Given the description of an element on the screen output the (x, y) to click on. 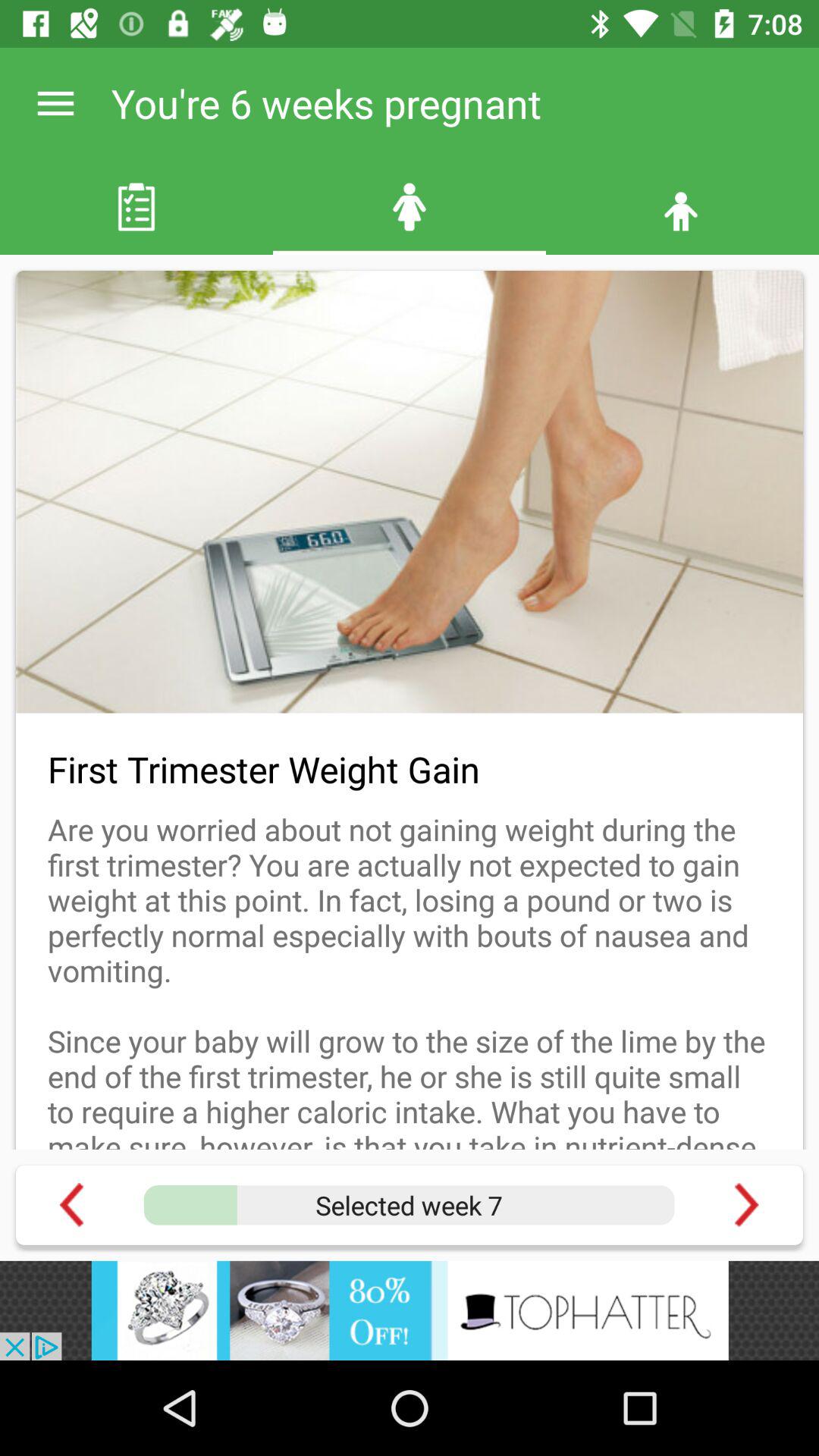
see more pages (746, 1204)
